Given the description of an element on the screen output the (x, y) to click on. 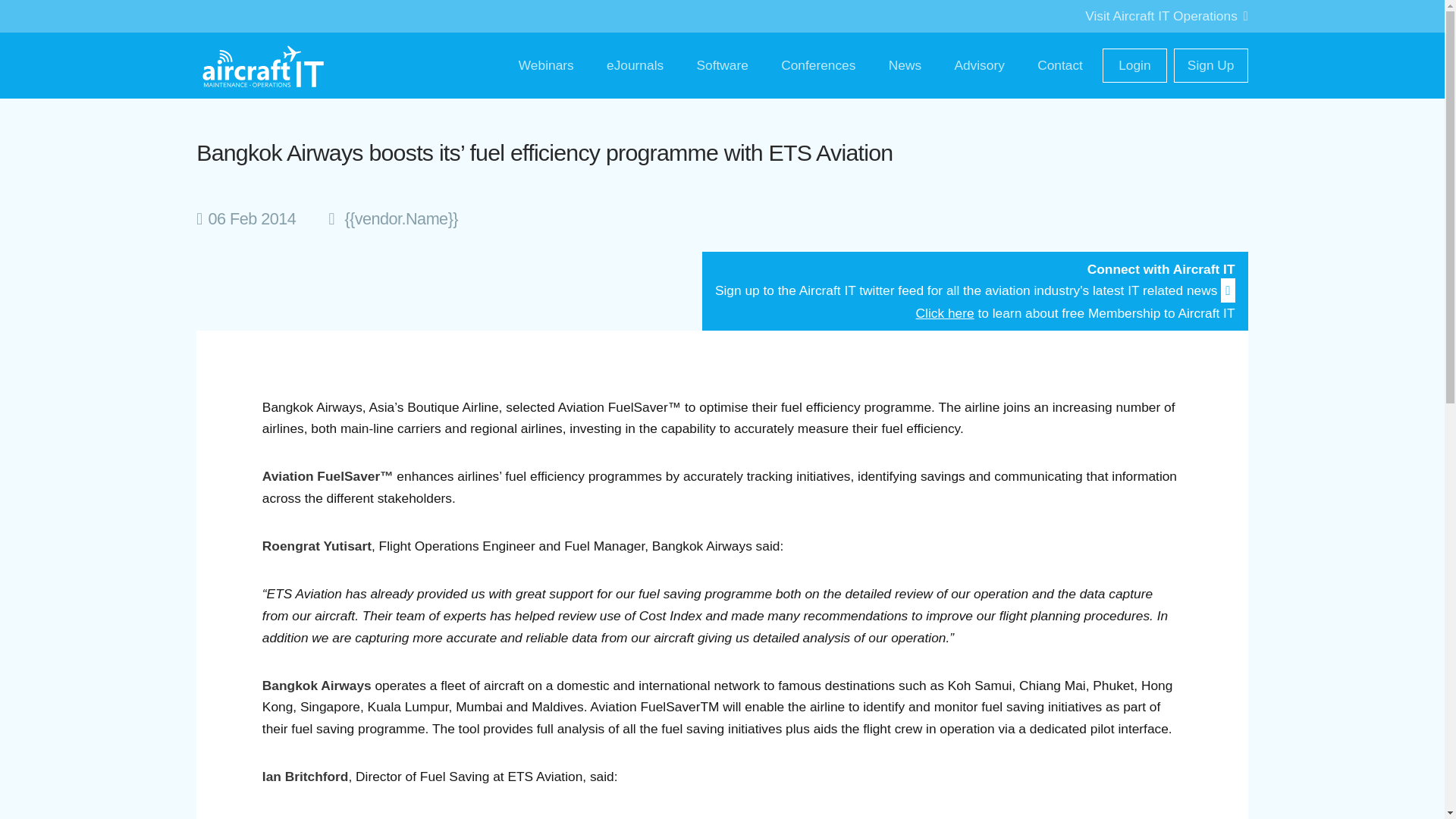
Click here (944, 313)
Software (721, 65)
Contact (1060, 65)
Conferences (818, 65)
Login (1134, 65)
Webinars (545, 65)
Sign Up (1210, 65)
Visit Aircraft IT Operations (1165, 15)
News (904, 65)
Advisory (978, 65)
